Given the description of an element on the screen output the (x, y) to click on. 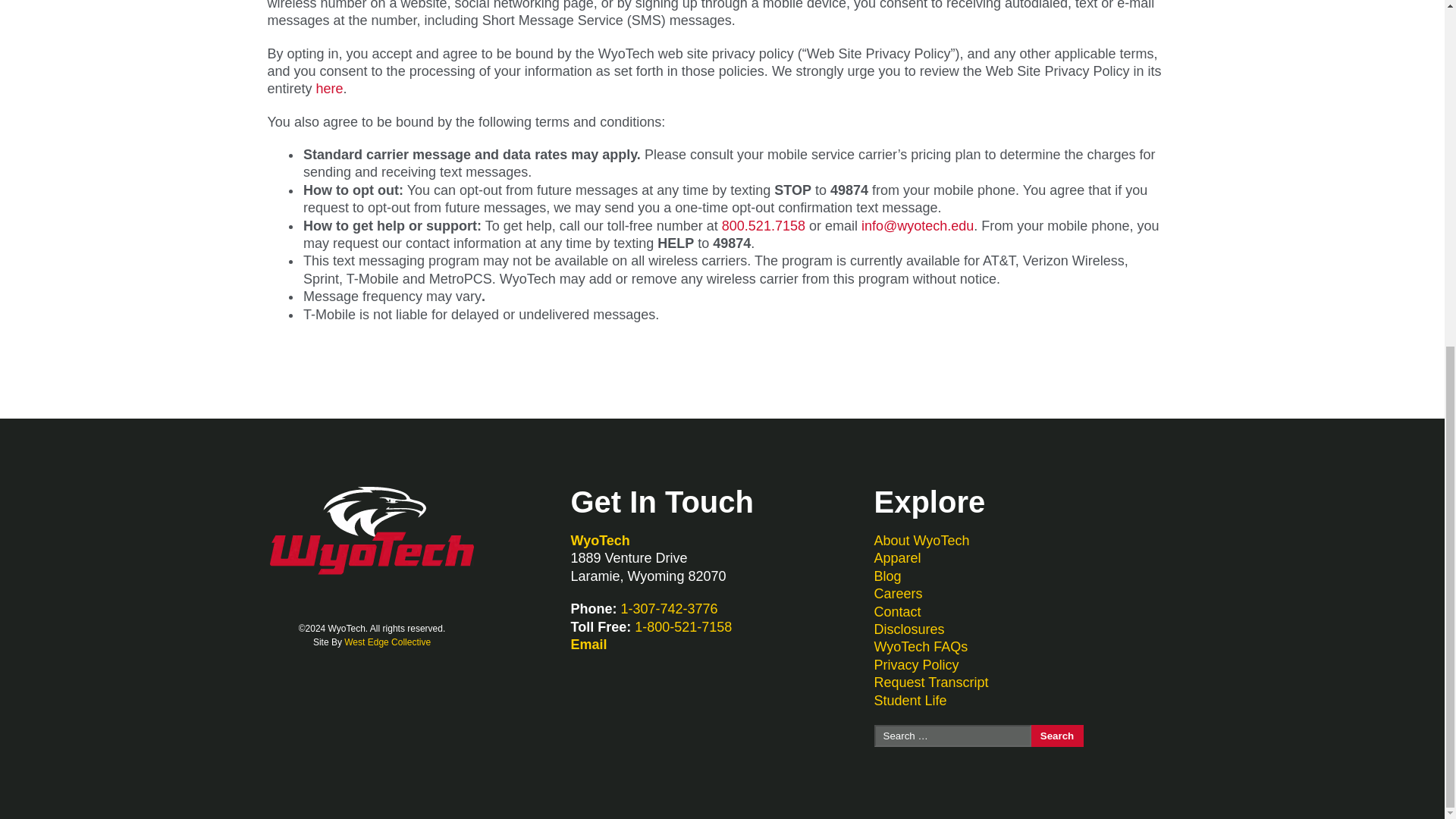
Search for: (951, 735)
Search (1056, 735)
Search (1056, 735)
